Given the description of an element on the screen output the (x, y) to click on. 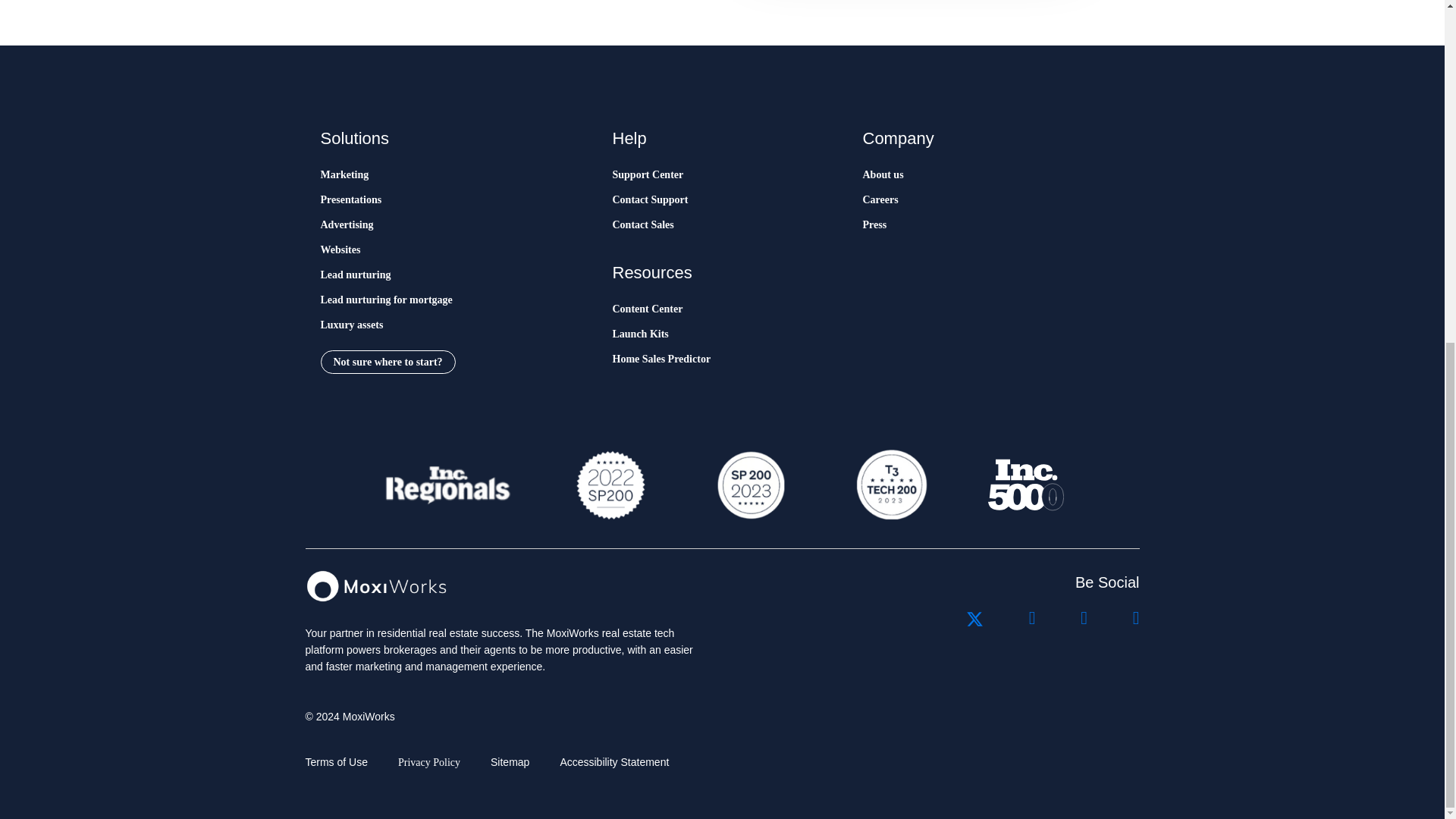
T3 tech 200 2023 (890, 484)
SP 2022 (610, 484)
SP 2023 (749, 484)
